Given the description of an element on the screen output the (x, y) to click on. 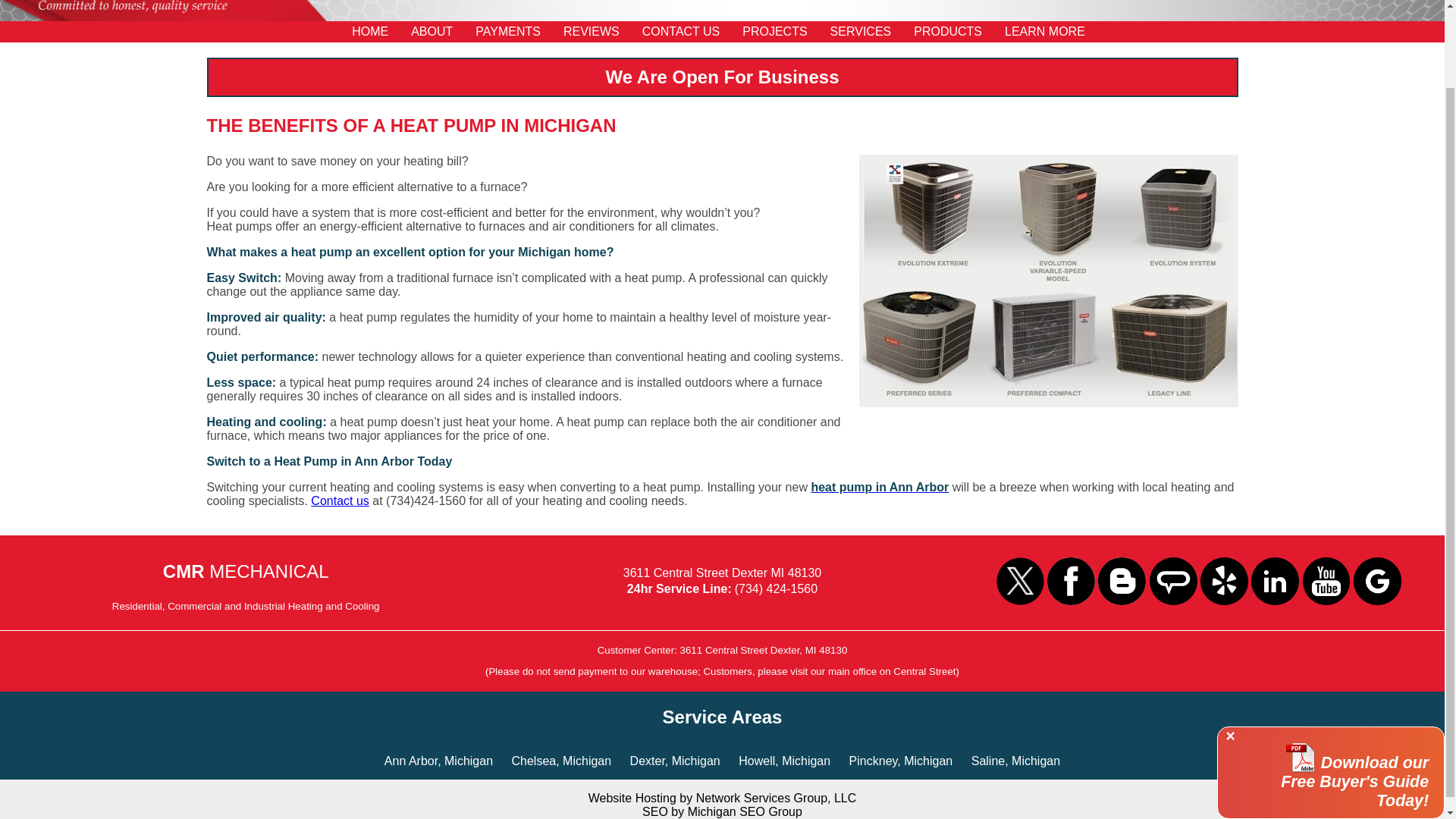
PRODUCTS (947, 31)
CONTACT US (681, 31)
PROJECTS (774, 31)
PAYMENTS (507, 31)
REVIEWS (591, 31)
SERVICES (860, 31)
HOME (369, 31)
ABOUT (431, 31)
